Given the description of an element on the screen output the (x, y) to click on. 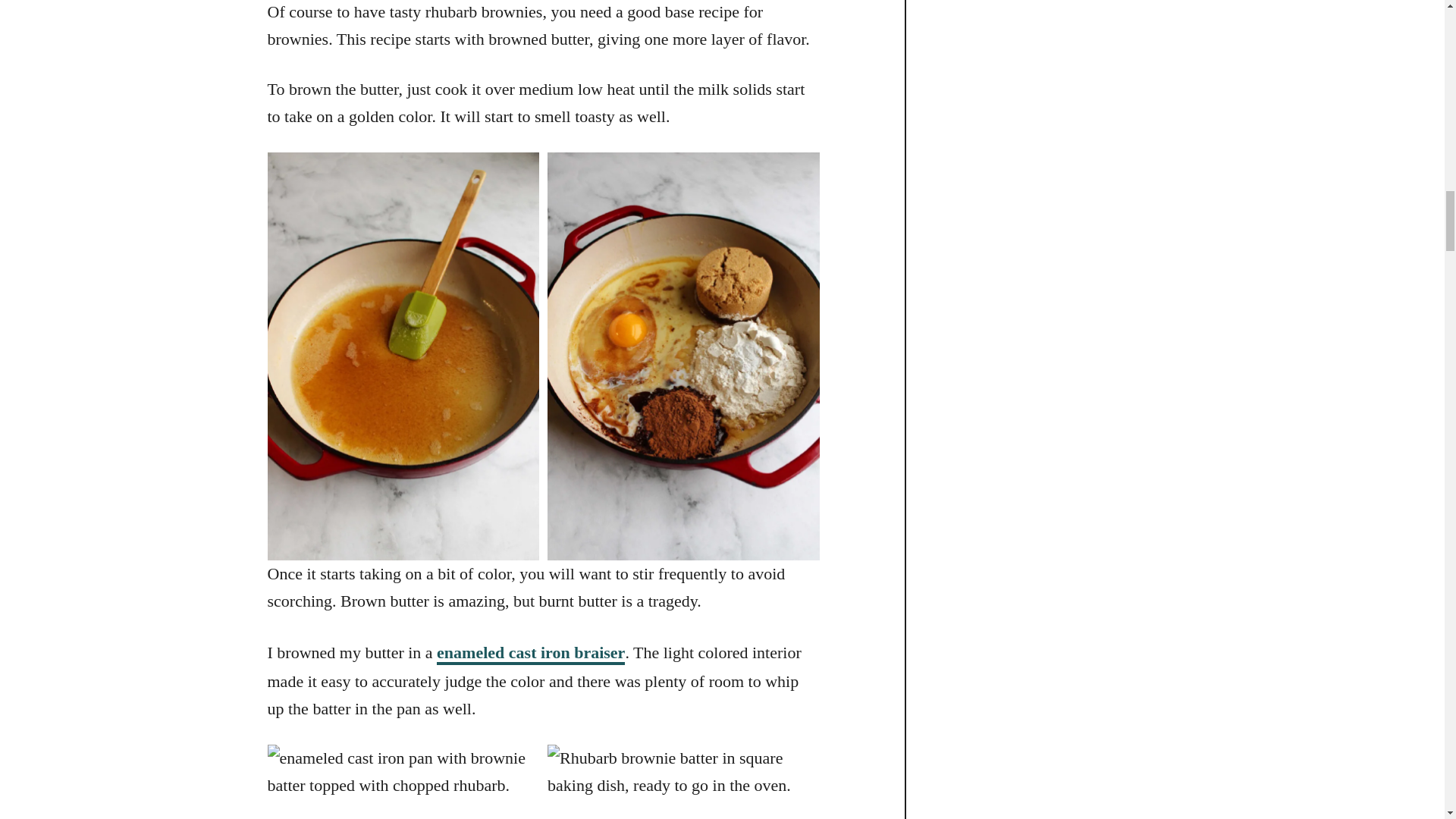
Rhubarb Brownies 6 (683, 781)
Rhubarb Brownies 5 (402, 781)
enameled cast iron braiser (530, 653)
